Given the description of an element on the screen output the (x, y) to click on. 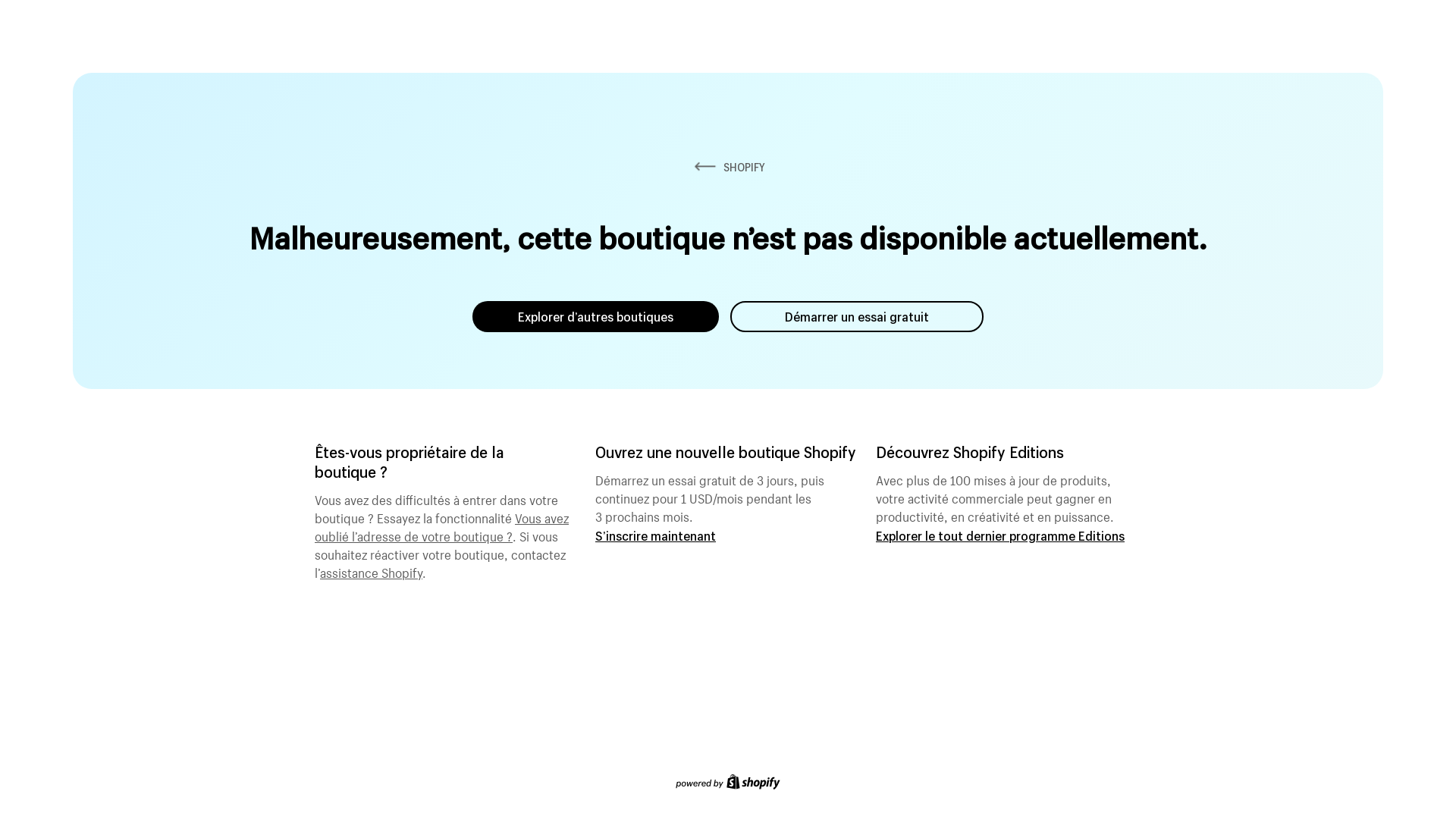
assistance Shopify Element type: text (371, 570)
Explorer le tout dernier programme Editions Element type: text (999, 535)
SHOPIFY Element type: text (727, 167)
